Given the description of an element on the screen output the (x, y) to click on. 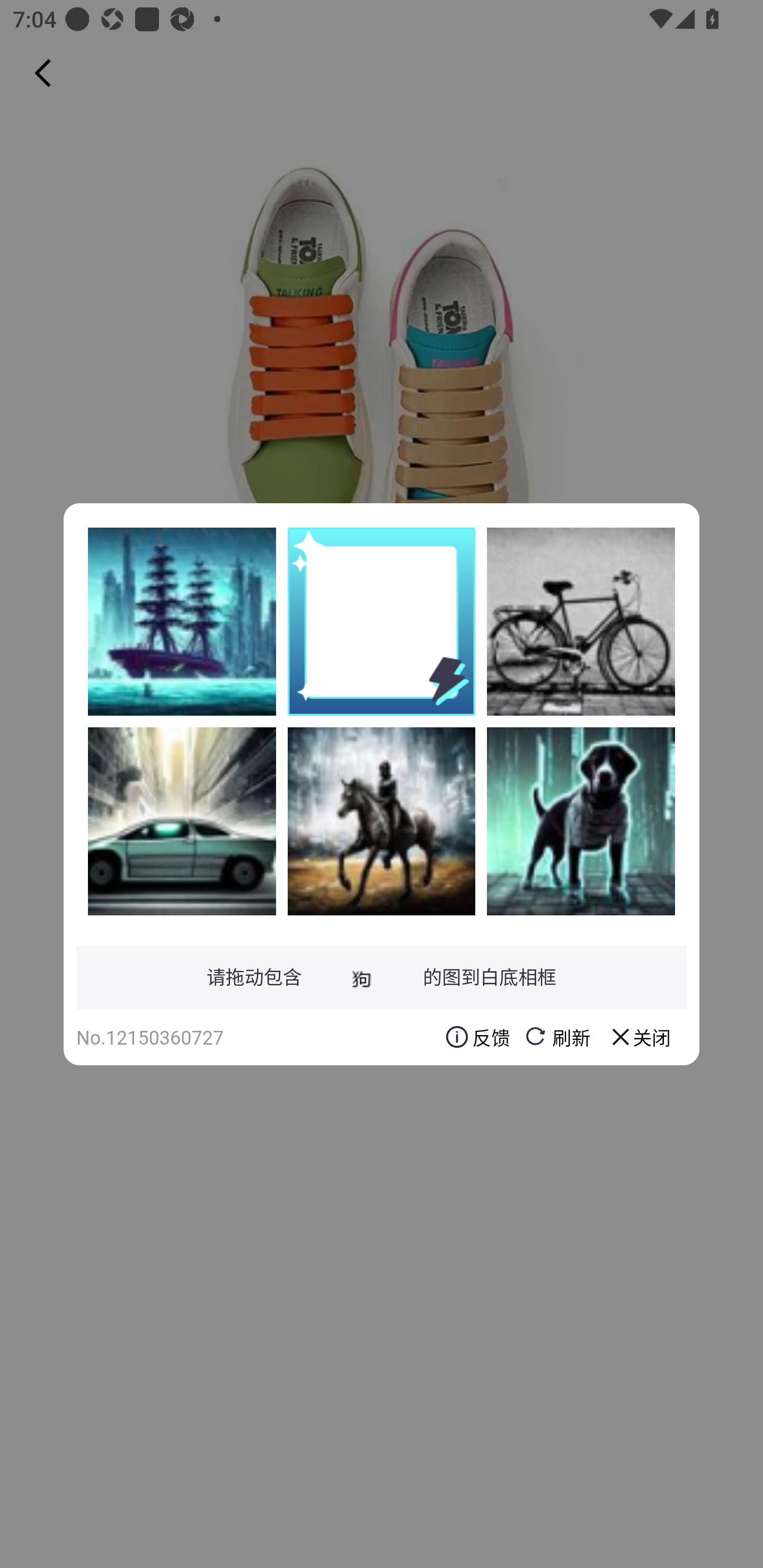
GwIWLIStg4P0SMjYfArn5T (181, 820)
+s (381, 820)
bgtxTO7Do5D (580, 820)
